Given the description of an element on the screen output the (x, y) to click on. 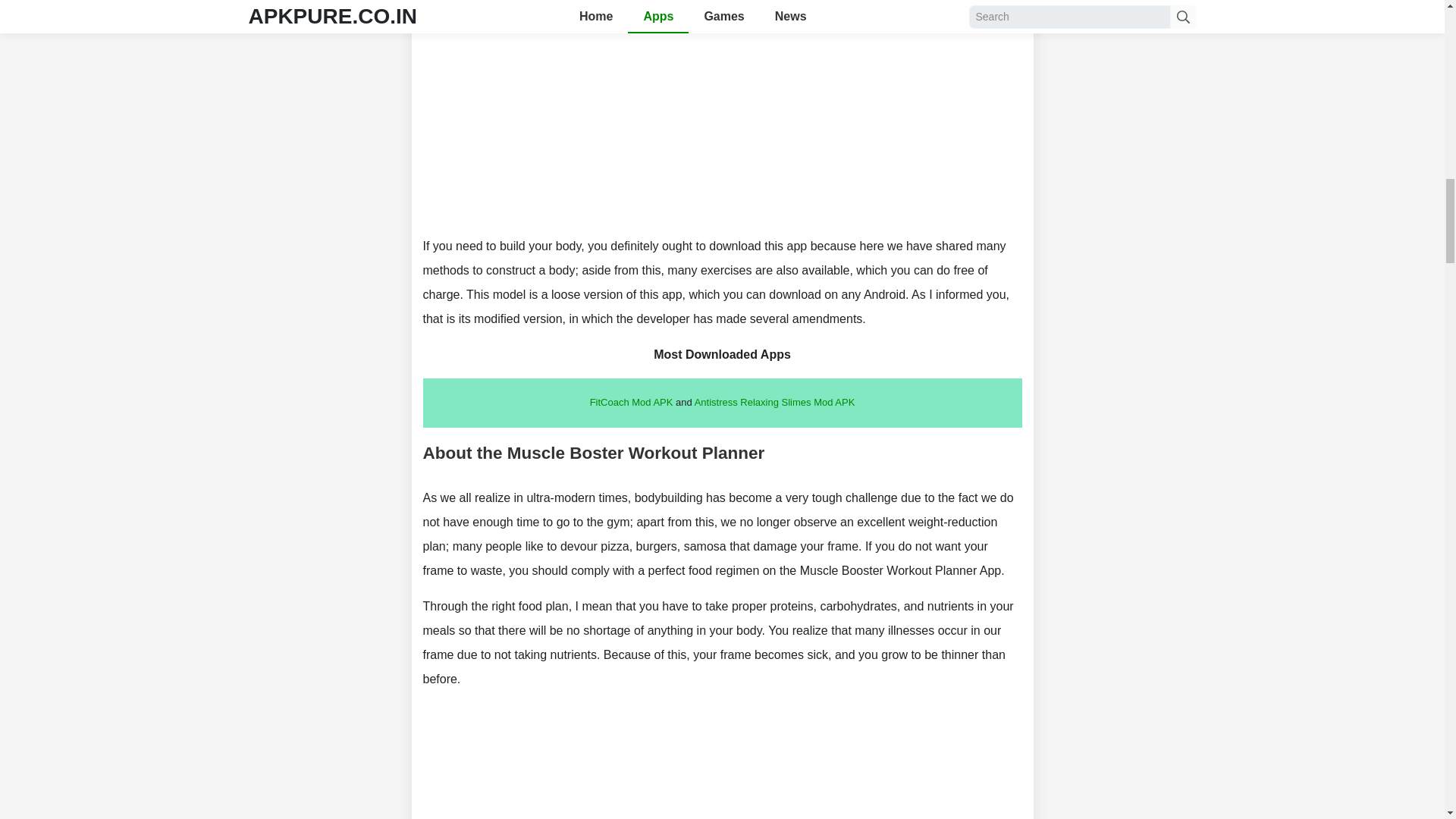
FitCoach Mod APK (630, 401)
Antistress Relaxing Slimes Mod APK (775, 401)
